Given the description of an element on the screen output the (x, y) to click on. 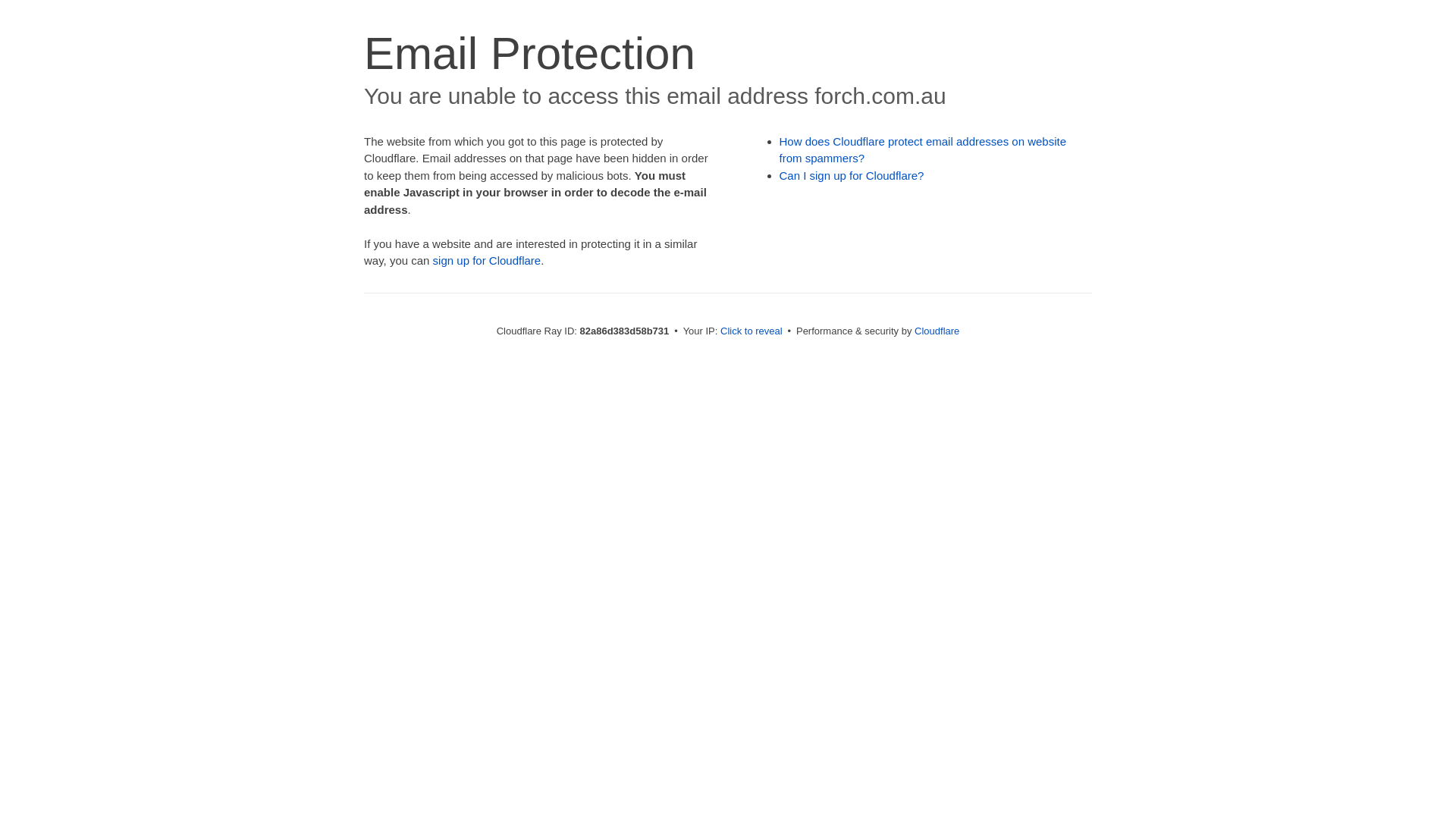
Can I sign up for Cloudflare? Element type: text (851, 175)
sign up for Cloudflare Element type: text (487, 260)
Click to reveal Element type: text (751, 330)
Cloudflare Element type: text (936, 330)
